Given the description of an element on the screen output the (x, y) to click on. 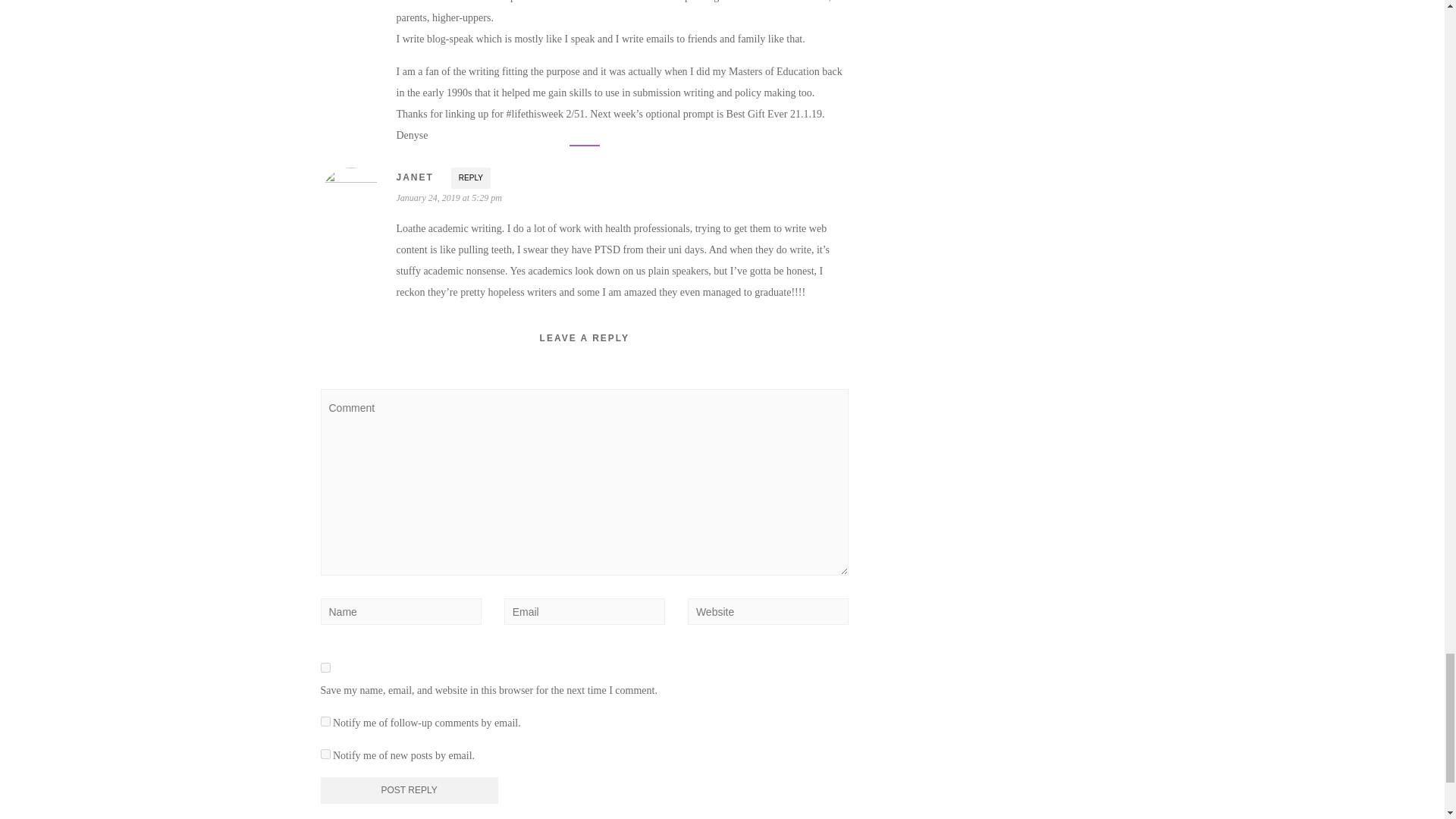
Post Reply (408, 790)
subscribe (325, 721)
subscribe (325, 754)
yes (325, 667)
